Given the description of an element on the screen output the (x, y) to click on. 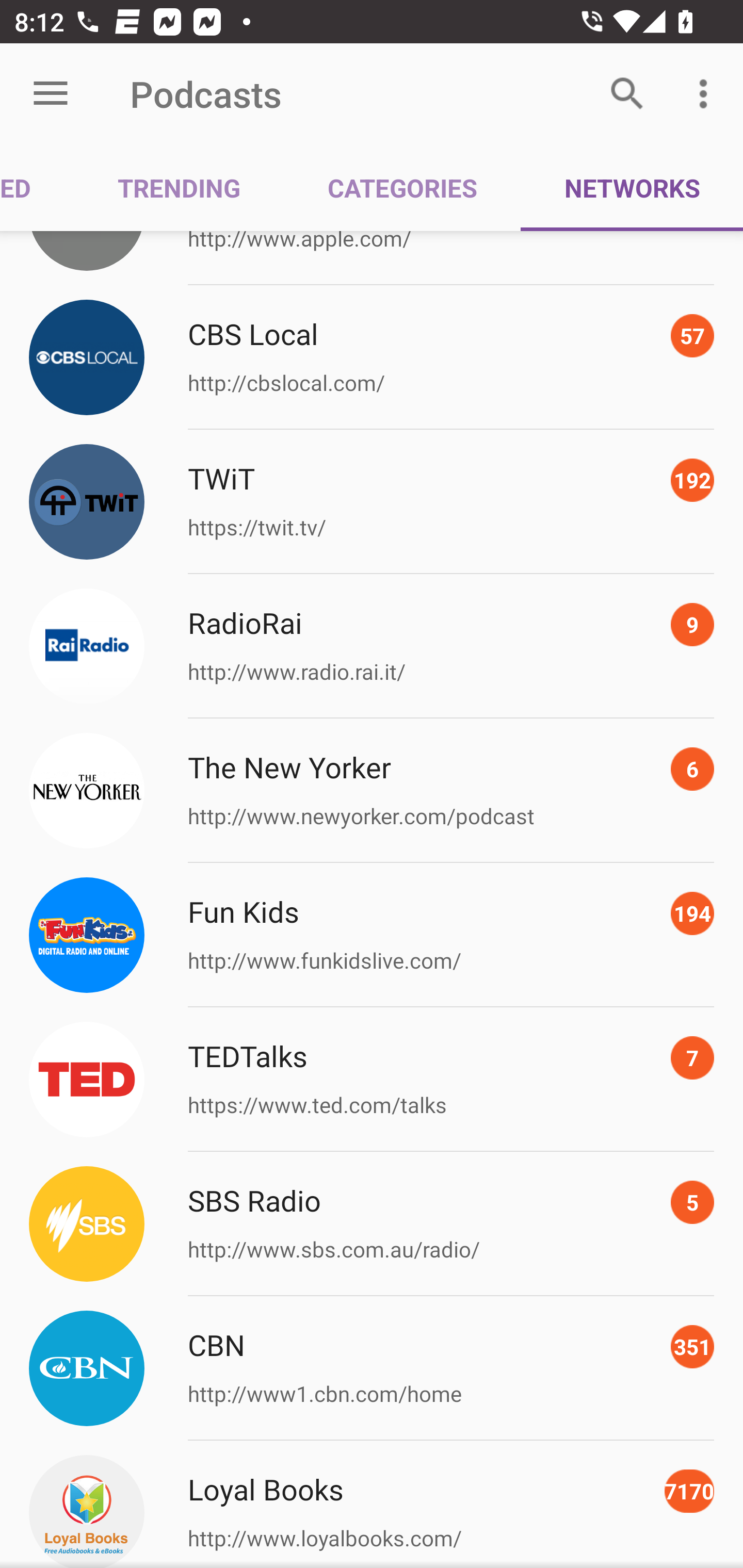
Open menu (50, 93)
Search (626, 93)
More options (706, 93)
TRENDING (178, 187)
CATEGORIES (401, 187)
NETWORKS (631, 187)
Picture CBS Local 57 http://cbslocal.com/ (371, 357)
Picture TWiT 192 https://twit.tv/ (371, 501)
Picture RadioRai 9 http://www.radio.rai.it/ (371, 645)
Picture Fun Kids 194 http://www.funkidslive.com/ (371, 934)
Picture TEDTalks 7 https://www.ted.com/talks (371, 1079)
Picture SBS Radio 5 http://www.sbs.com.au/radio/ (371, 1224)
Picture CBN 351 http://www1.cbn.com/home (371, 1368)
